Given the description of an element on the screen output the (x, y) to click on. 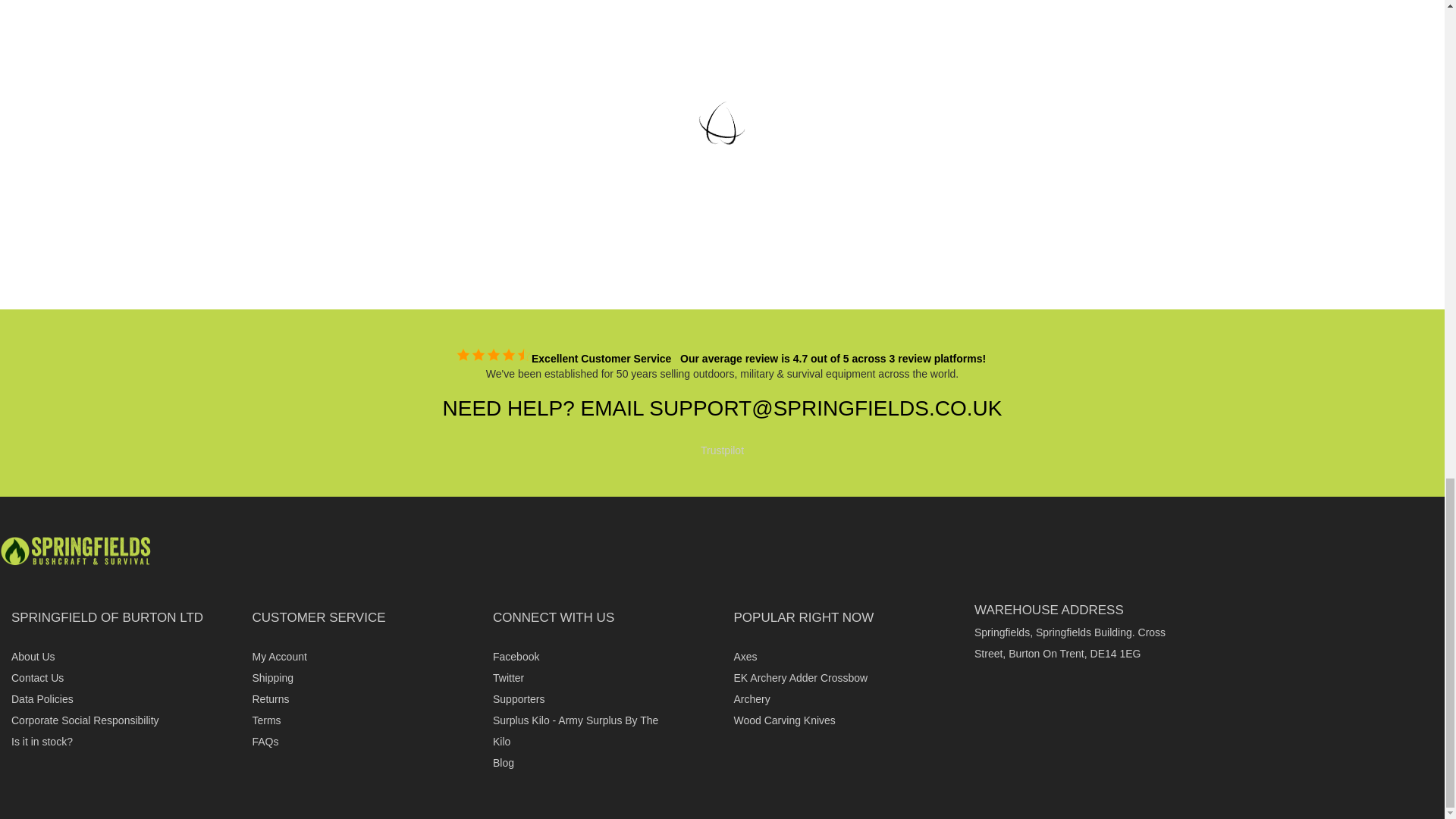
92888 (872, 225)
Shipping (272, 677)
Mora Precision Knife Stainless (899, 163)
Mora Companion Heavy Duty Stainless - Burnt Orange (364, 170)
Mora Rope Knife - Stainless Steel Serrated (726, 163)
Returns (269, 698)
Mora Heavy Duty Companion Carbon Knife (546, 163)
My Account (278, 656)
68232 (520, 225)
95798 (339, 239)
92867 (700, 225)
